Given the description of an element on the screen output the (x, y) to click on. 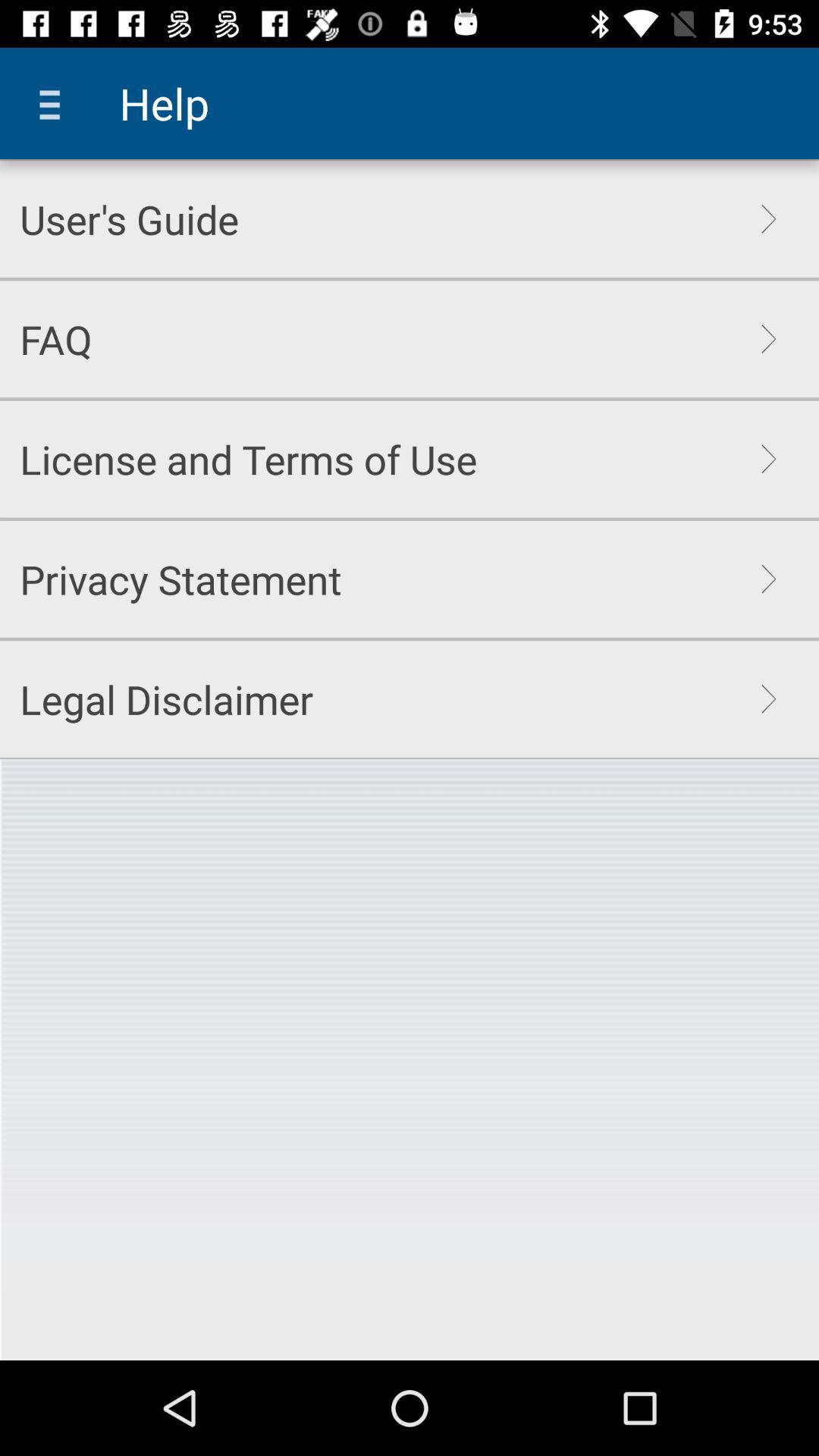
turn on the icon to the left of help item (55, 103)
